Given the description of an element on the screen output the (x, y) to click on. 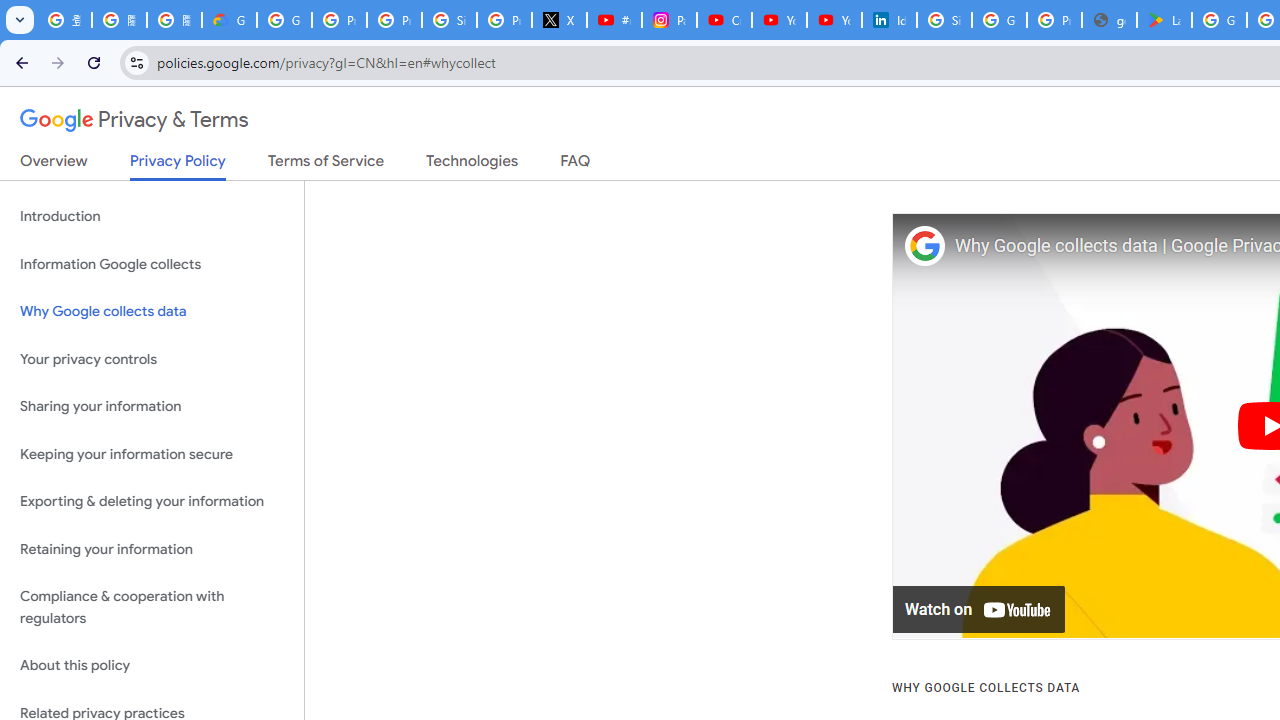
Your privacy controls (152, 358)
About this policy (152, 666)
Introduction (152, 216)
Retaining your information (152, 548)
Sign in - Google Accounts (449, 20)
X (559, 20)
Sharing your information (152, 407)
Keeping your information secure (152, 453)
